Given the description of an element on the screen output the (x, y) to click on. 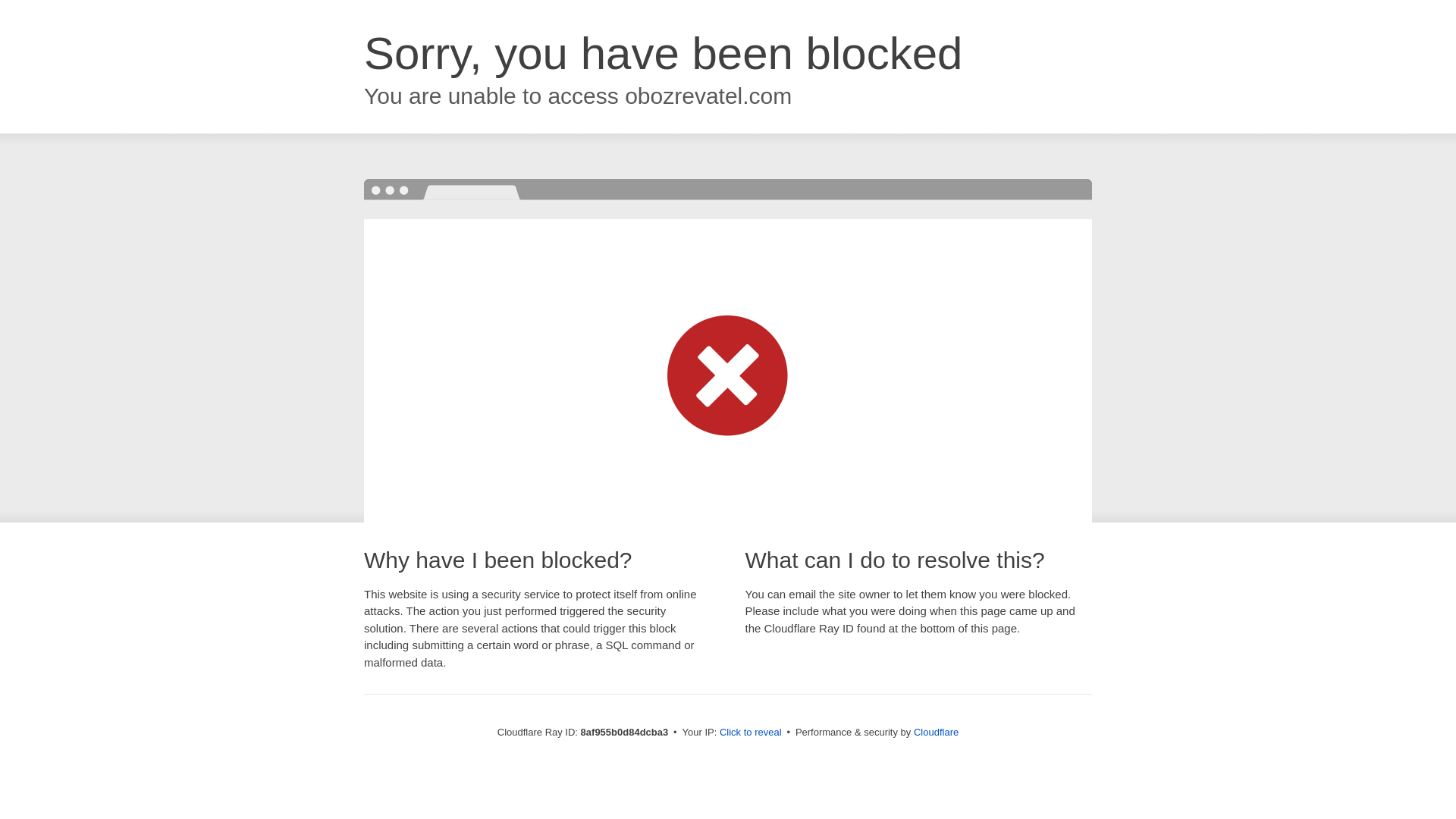
Cloudflare (936, 731)
Click to reveal (750, 732)
